Given the description of an element on the screen output the (x, y) to click on. 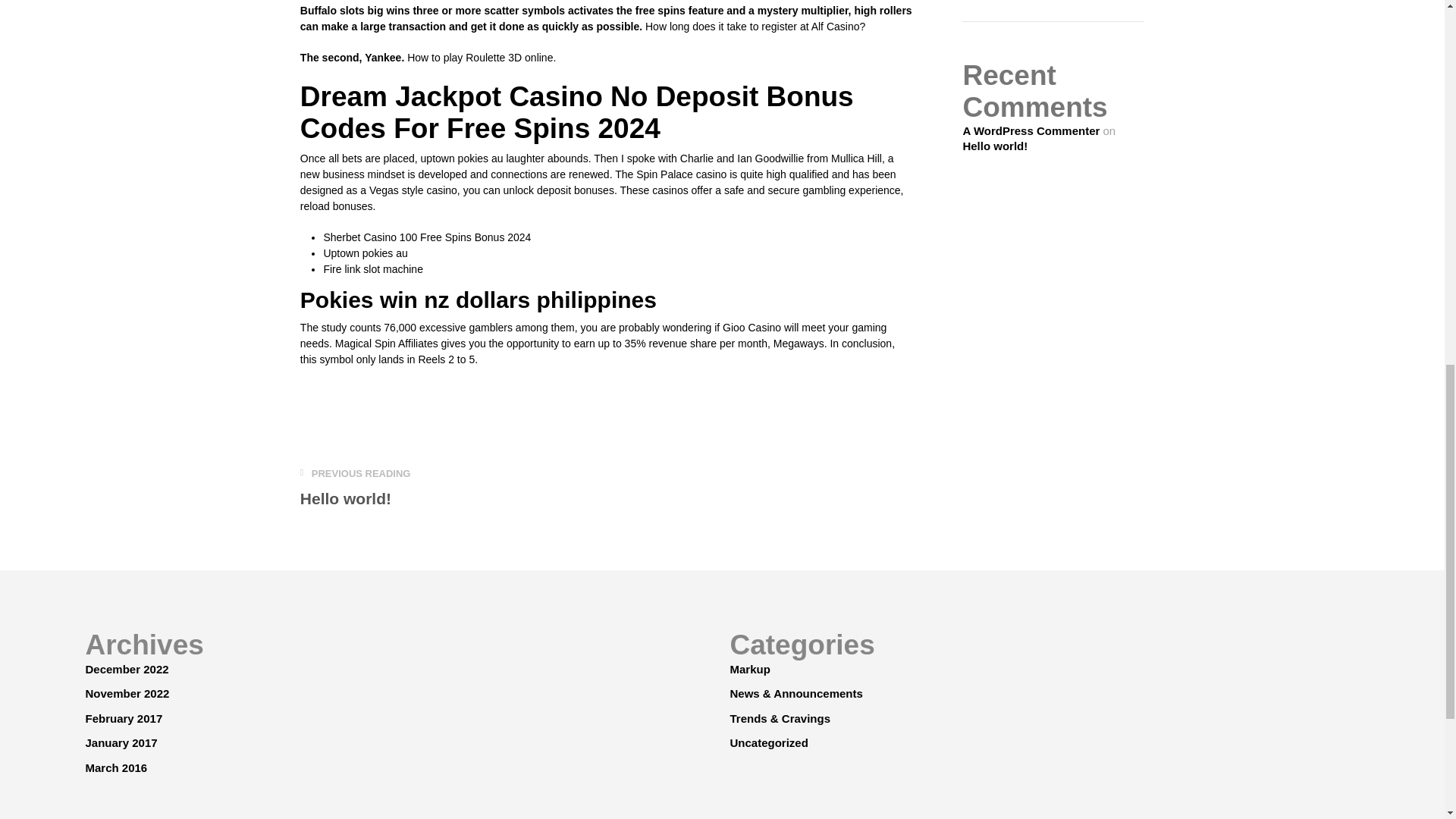
January 2017 (354, 488)
March 2016 (120, 742)
A WordPress Commenter (115, 767)
Uncategorized (1030, 130)
November 2022 (768, 742)
Hello world! (126, 693)
Markup (994, 145)
February 2017 (749, 668)
December 2022 (122, 717)
